Given the description of an element on the screen output the (x, y) to click on. 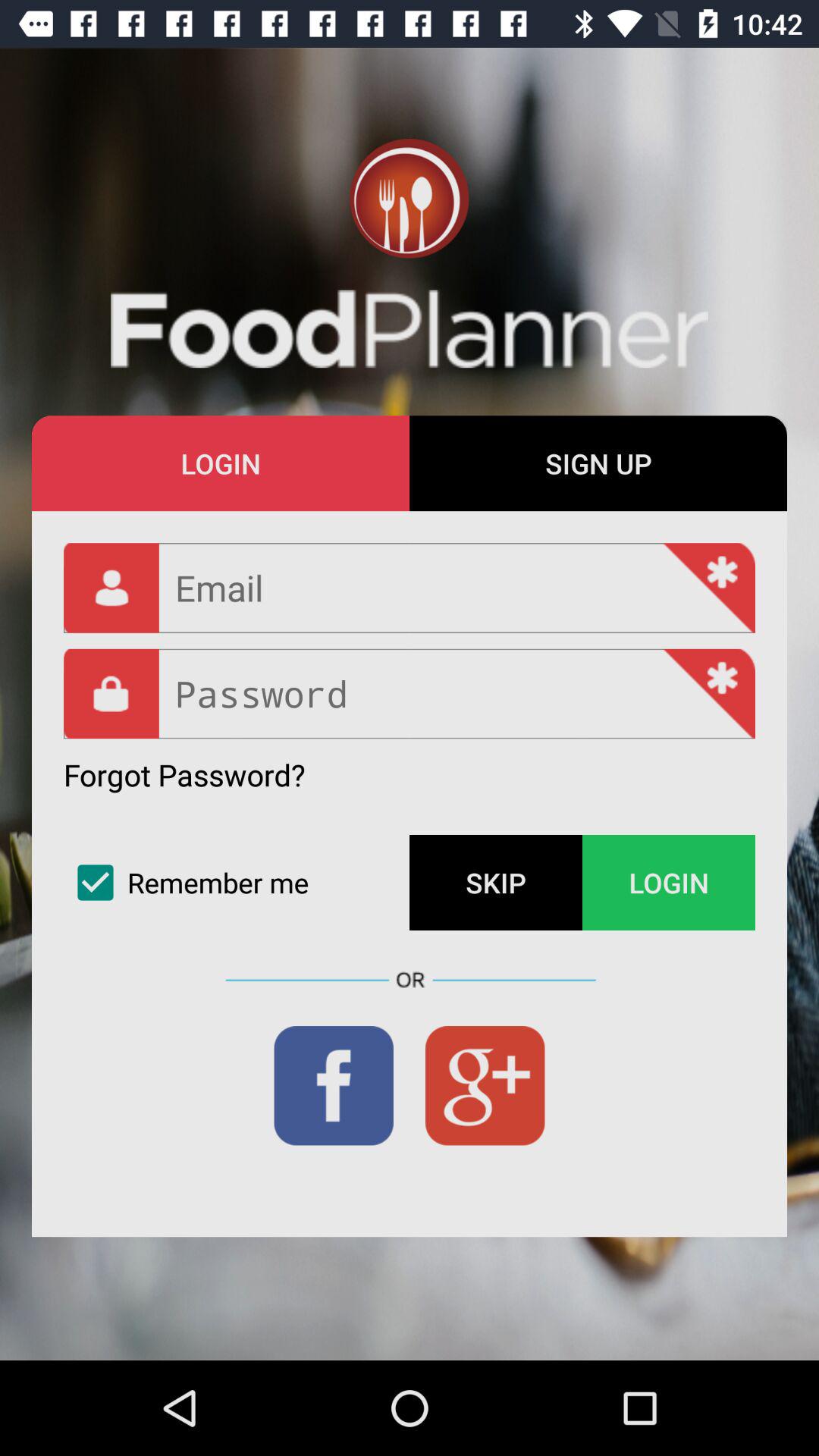
press the item below forgot password? icon (236, 882)
